Given the description of an element on the screen output the (x, y) to click on. 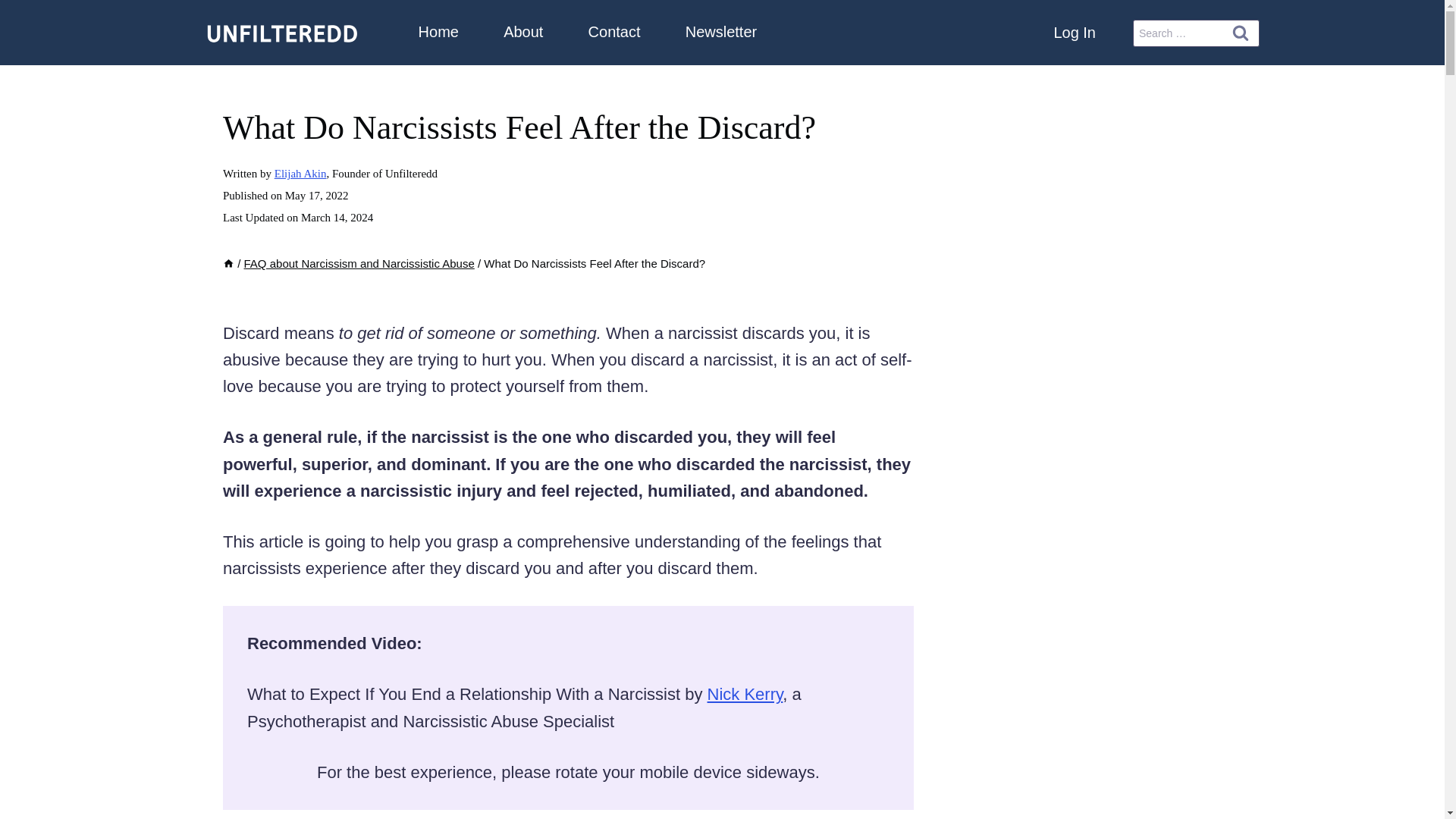
Log In (1074, 32)
Nick Kerry (745, 693)
Search (1240, 32)
Elijah Akin (300, 173)
FAQ about Narcissism and Narcissistic Abuse (359, 263)
Contact (614, 32)
Home (438, 32)
About (523, 32)
Search (1240, 32)
Newsletter (720, 32)
